Given the description of an element on the screen output the (x, y) to click on. 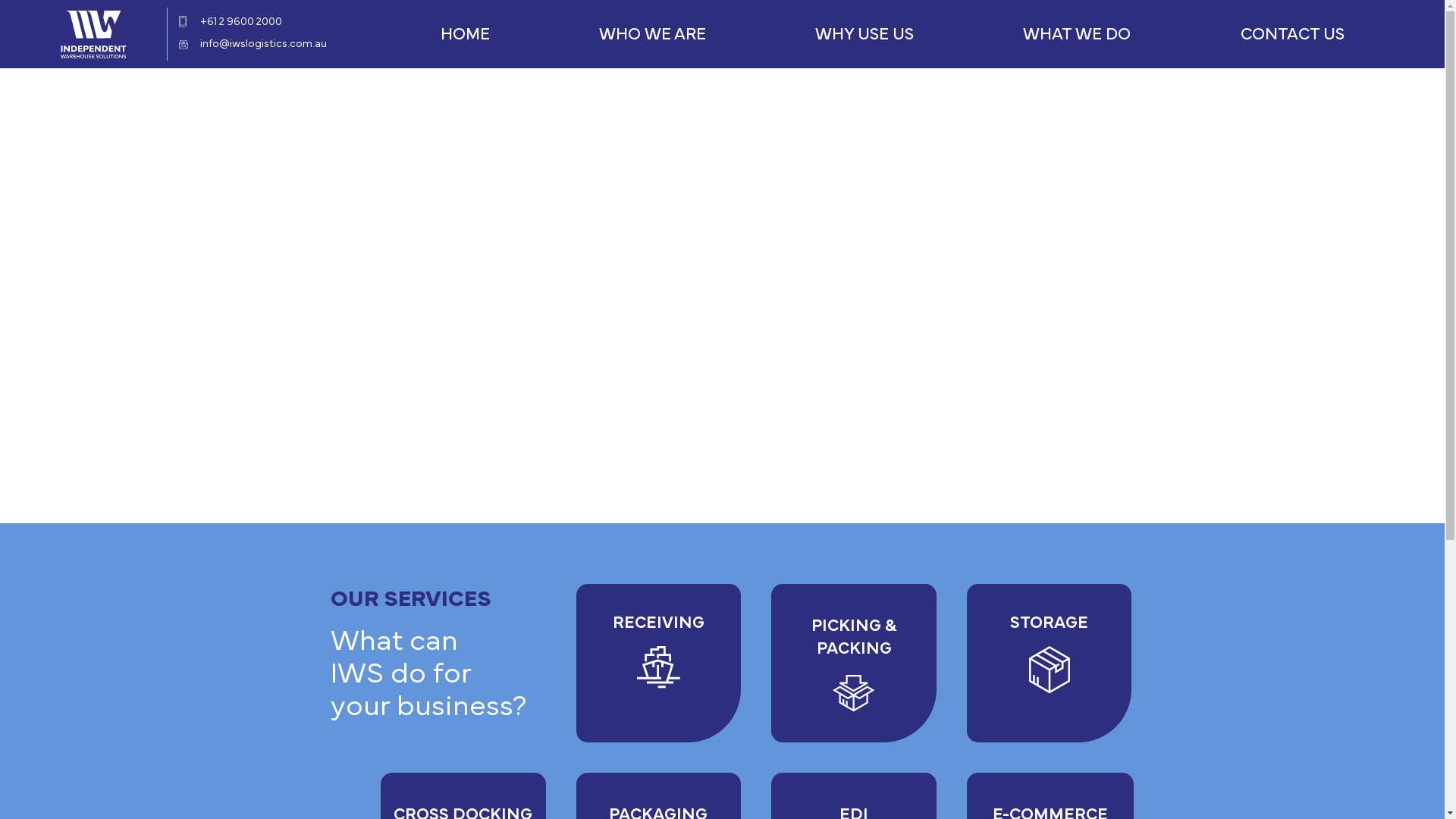
WHO WE ARE Element type: text (652, 33)
WHY USE US Element type: text (864, 33)
info@iwslogistics.com.au Element type: text (263, 42)
CONTACT US Element type: text (1292, 33)
HOME Element type: text (464, 33)
WHAT WE DO Element type: text (1076, 33)
+61 2 9600 2000 Element type: text (241, 21)
